Given the description of an element on the screen output the (x, y) to click on. 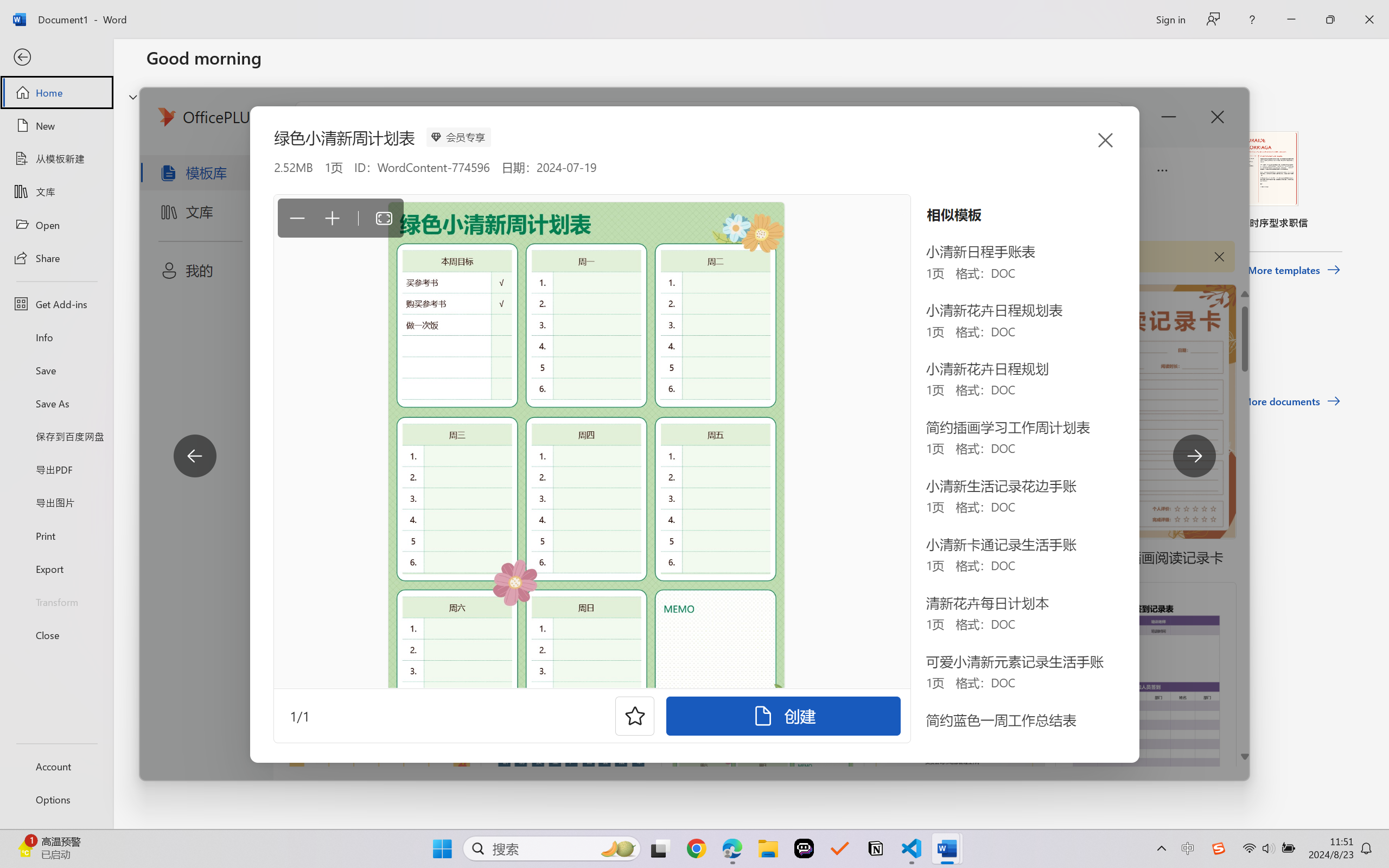
Hide or show region (133, 96)
More documents (1290, 401)
Back (56, 57)
Info (56, 337)
More templates (1293, 270)
